Given the description of an element on the screen output the (x, y) to click on. 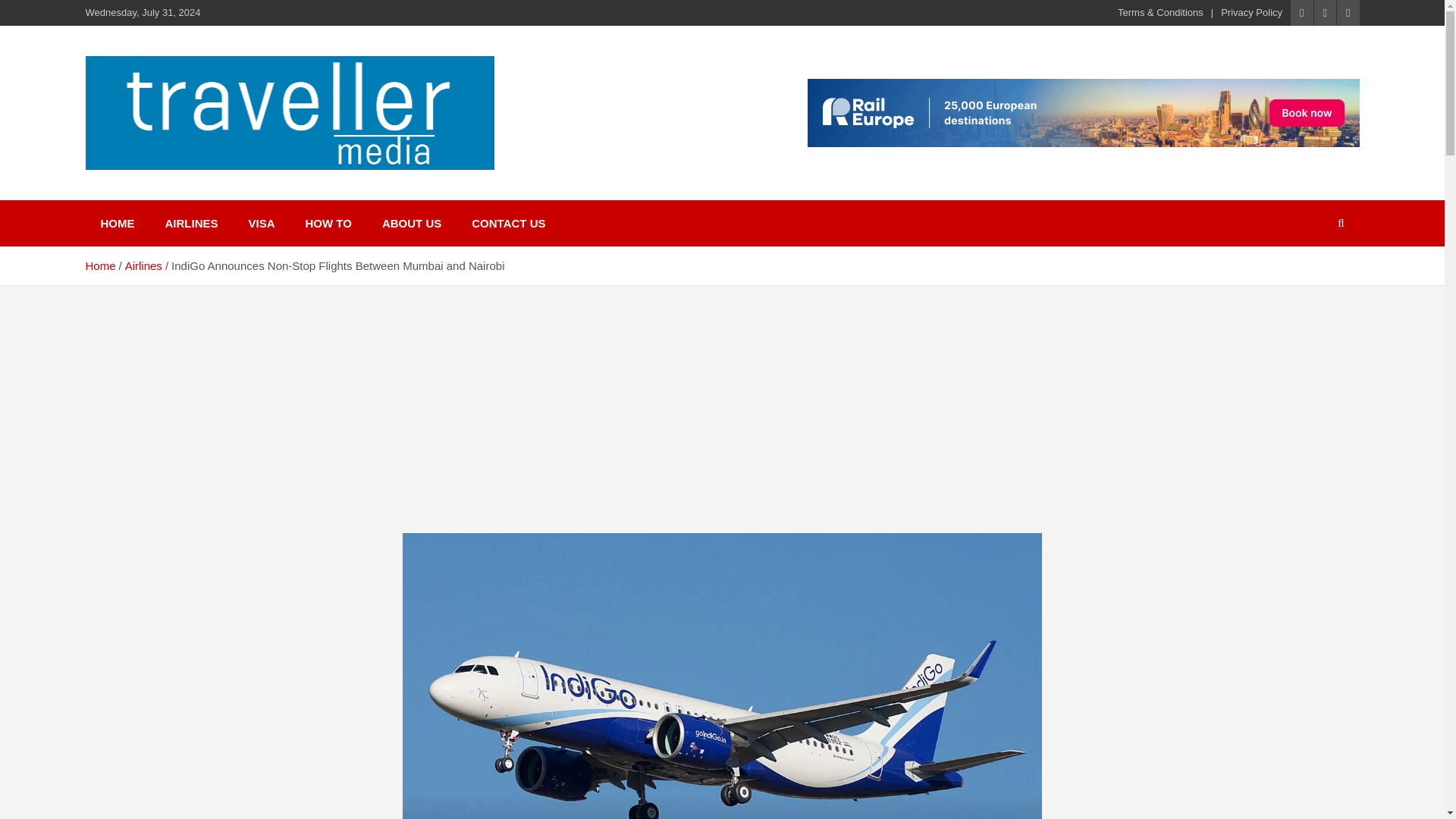
Airlines (143, 265)
HOW TO (327, 222)
VISA (260, 222)
AIRLINES (190, 222)
ABOUT US (411, 222)
Home (99, 265)
Privacy Policy (1251, 12)
CONTACT US (508, 222)
HOME (116, 222)
